Given the description of an element on the screen output the (x, y) to click on. 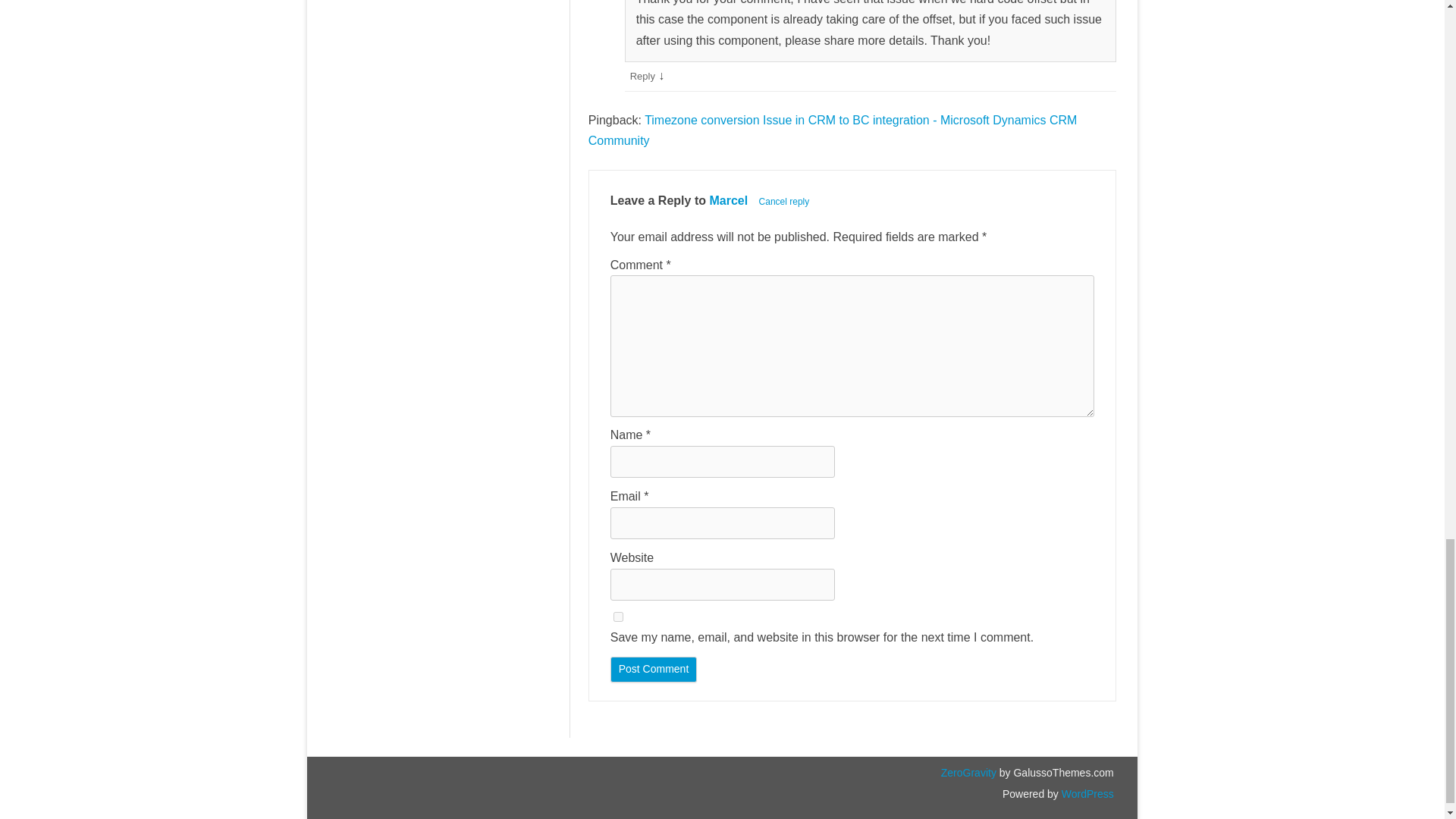
Semantic Personal Publishing Platform (1085, 793)
yes (617, 616)
Post Comment (653, 669)
